Given the description of an element on the screen output the (x, y) to click on. 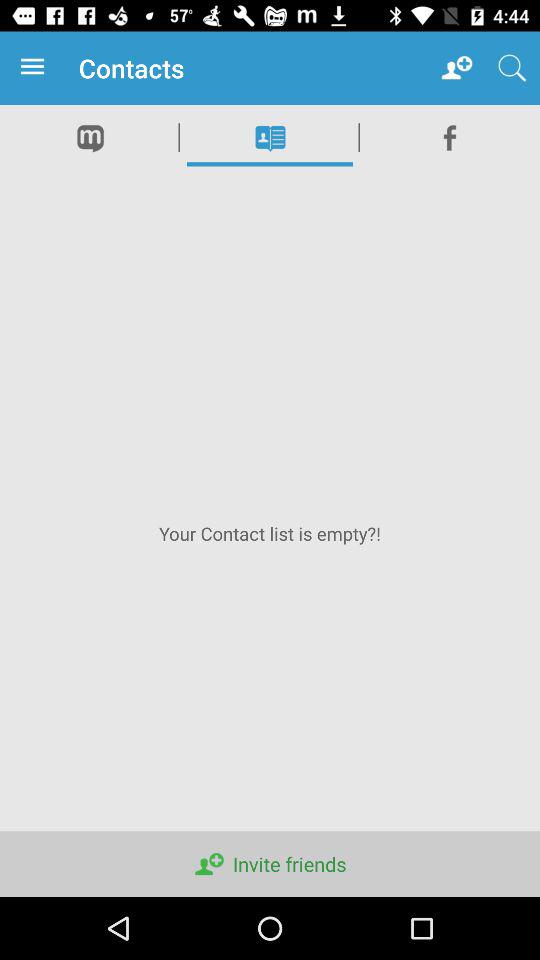
launch the item to the left of the contacts icon (36, 68)
